Given the description of an element on the screen output the (x, y) to click on. 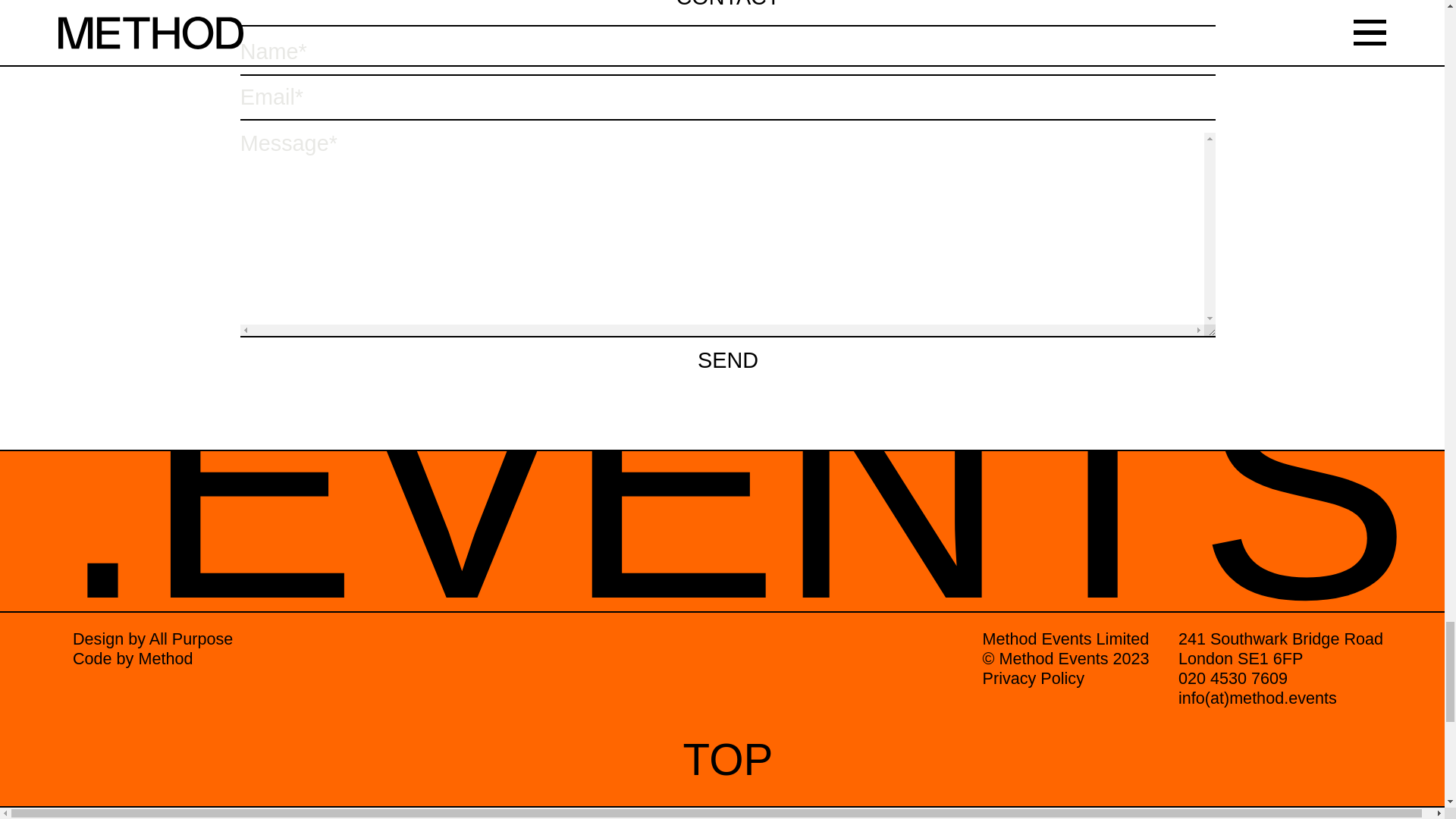
Send (727, 164)
